Given the description of an element on the screen output the (x, y) to click on. 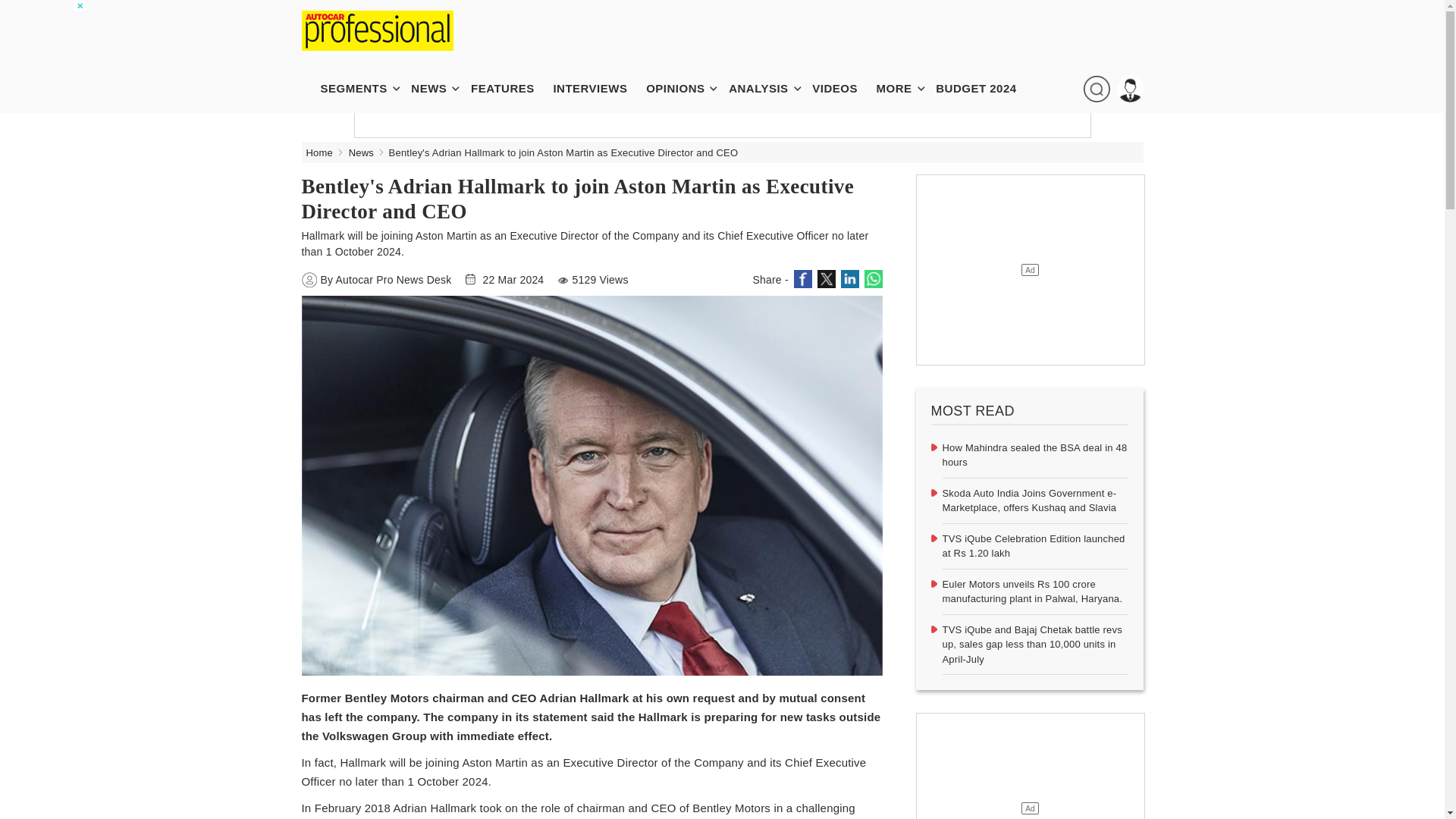
BUDGET 2024 (983, 88)
MORE (901, 88)
NEWS (435, 88)
SEGMENTS (361, 88)
INTERVIEWS (596, 88)
VIDEOS (842, 88)
OPINIONS (682, 88)
FEATURES (510, 88)
ANALYSIS (765, 88)
